Given the description of an element on the screen output the (x, y) to click on. 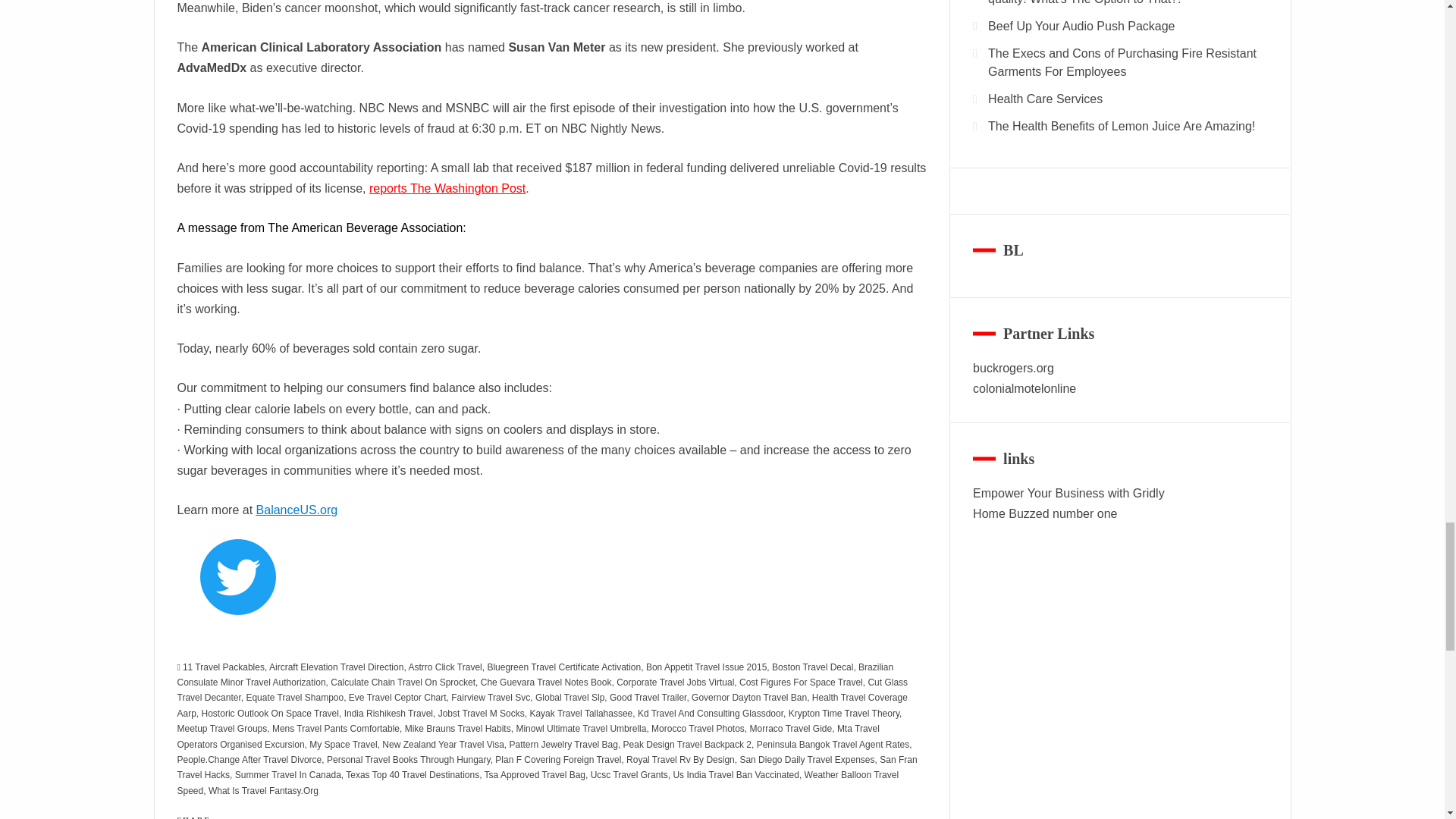
reports The Washington Post (447, 187)
Bluegreen Travel Certificate Activation (563, 666)
11 Travel Packables (223, 666)
Aircraft Elevation Travel Direction (336, 666)
Astrro Click Travel (444, 666)
Bon Appetit Travel Issue 2015 (706, 666)
BalanceUS.org (296, 509)
